Given the description of an element on the screen output the (x, y) to click on. 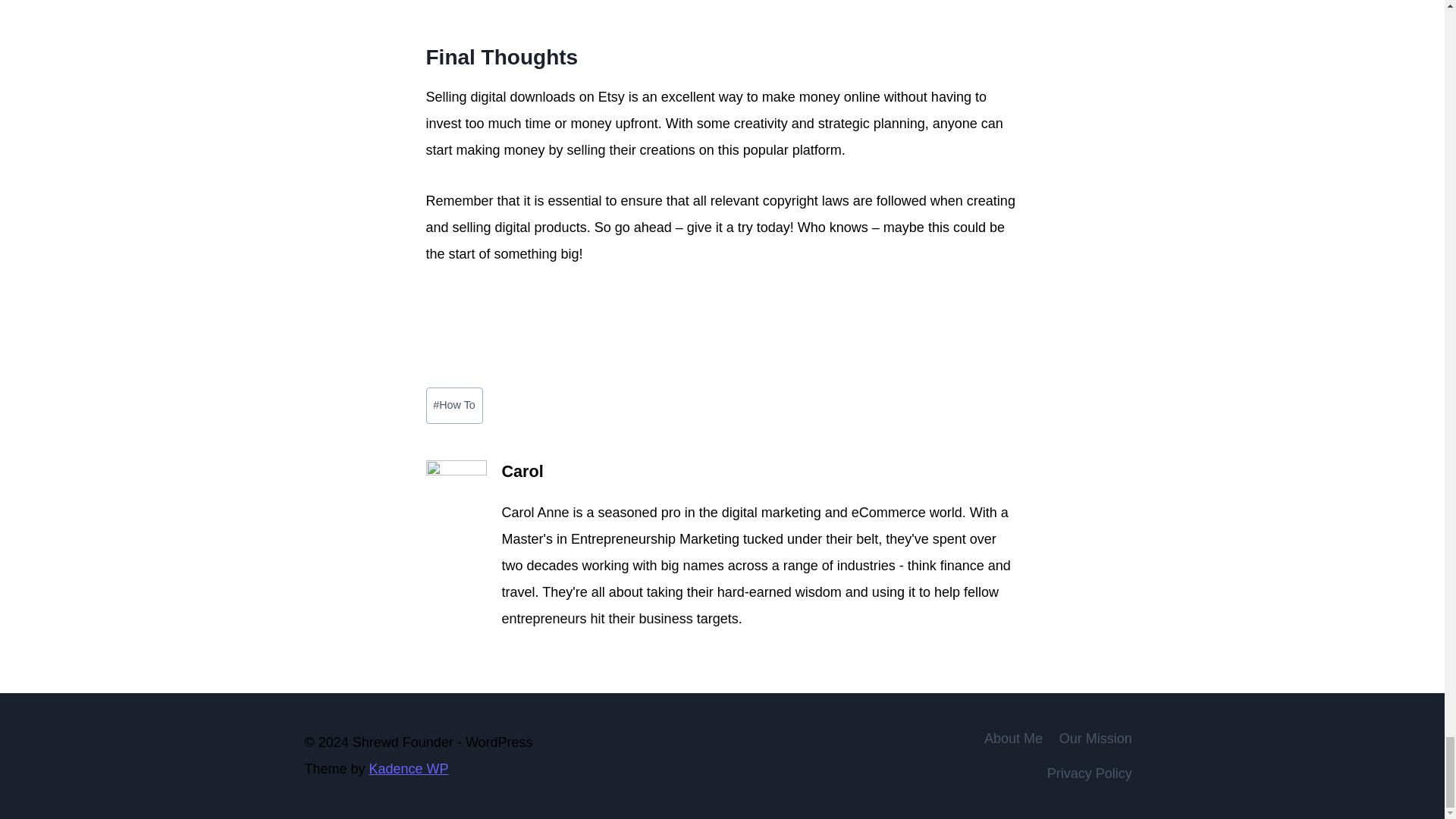
Privacy Policy (1089, 773)
Kadence WP (408, 768)
Our Mission (1095, 738)
How To (454, 406)
About Me (1013, 738)
